Given the description of an element on the screen output the (x, y) to click on. 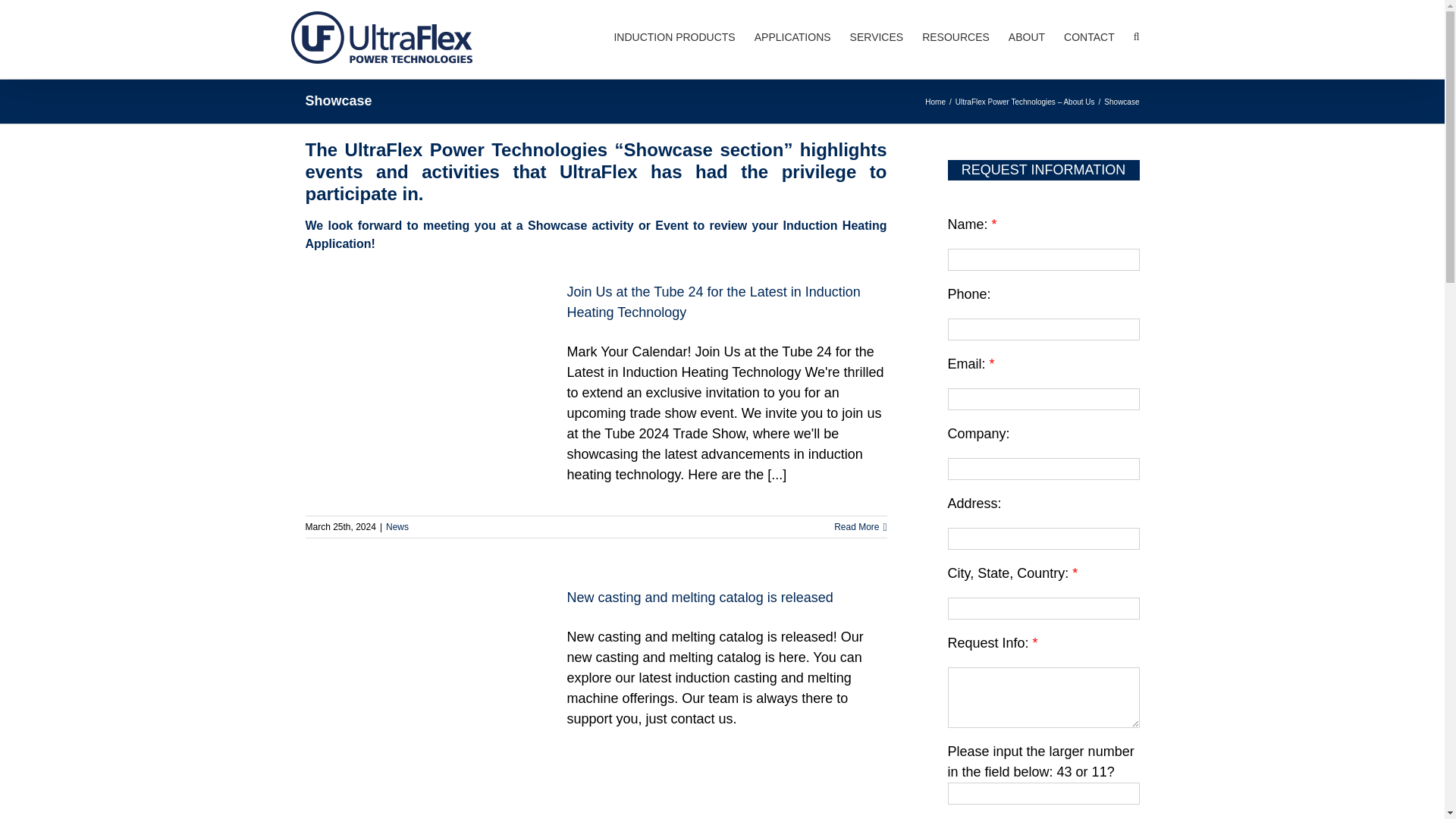
INDUCTION PRODUCTS (673, 35)
INDUCTION PRODUCTS (673, 35)
